Given the description of an element on the screen output the (x, y) to click on. 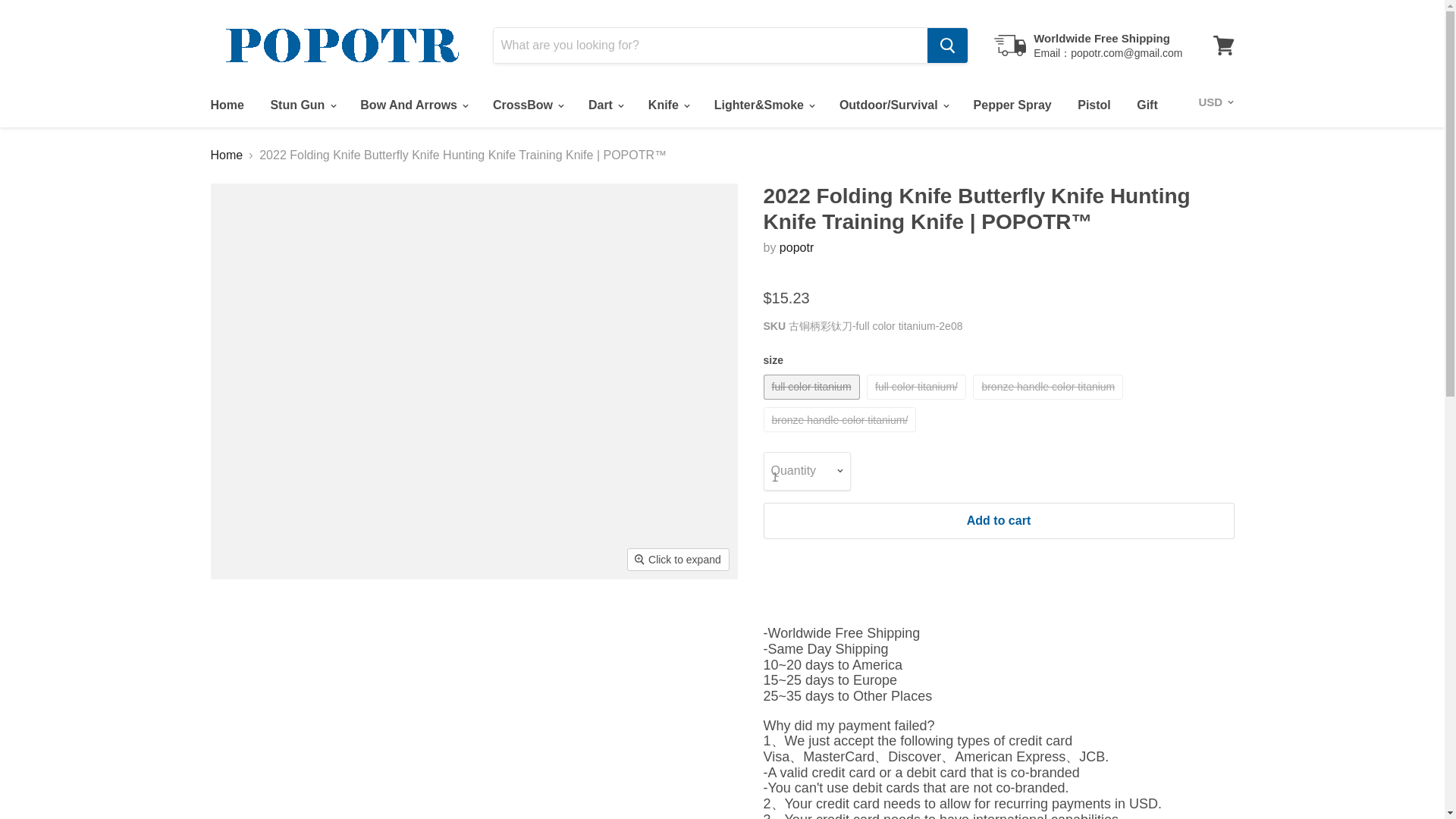
popotr (795, 246)
Home (226, 105)
View cart (1223, 45)
CrossBow (527, 105)
Dart (604, 105)
Knife (667, 105)
Bow And Arrows (413, 105)
Stun Gun (302, 105)
